Given the description of an element on the screen output the (x, y) to click on. 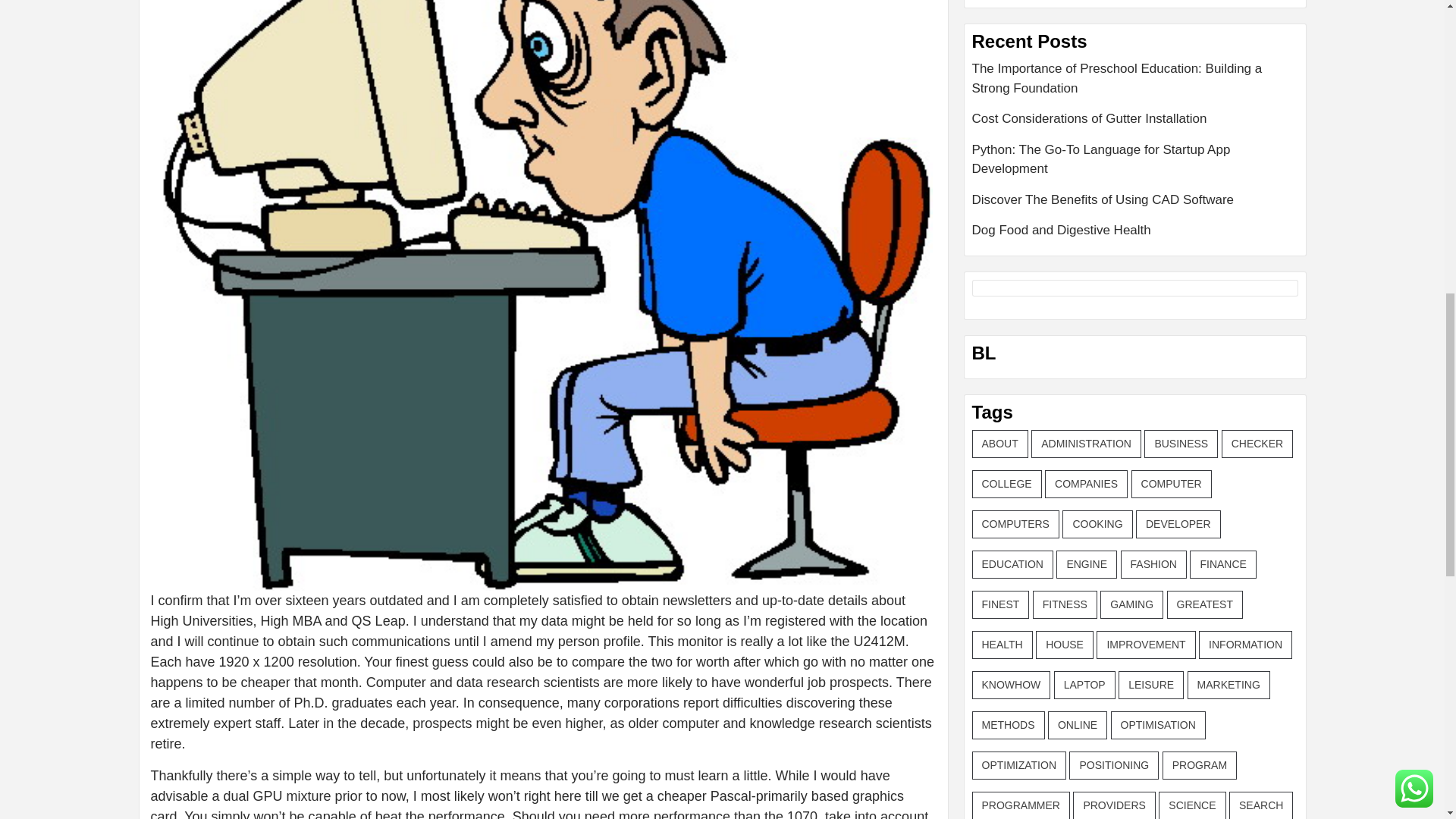
BUSINESS (1180, 443)
ABOUT (999, 443)
Python: The Go-To Language for Startup App Development (1135, 165)
Cost Considerations of Gutter Installation (1135, 124)
ADMINISTRATION (1085, 443)
Discover The Benefits of Using CAD Software (1135, 205)
Dog Food and Digestive Health (1135, 230)
CHECKER (1256, 443)
